Given the description of an element on the screen output the (x, y) to click on. 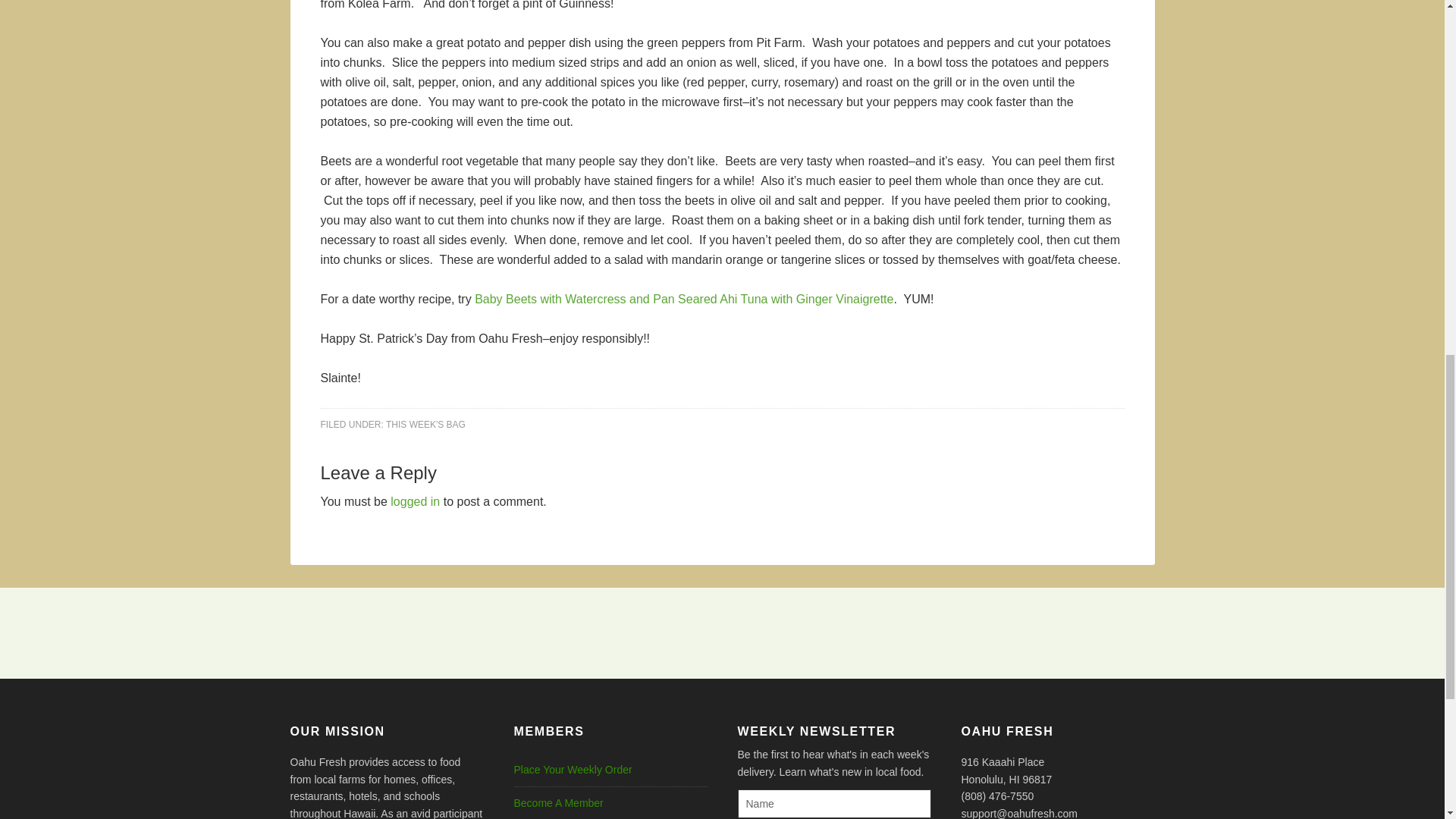
logged in (414, 501)
THIS WEEK'S BAG (425, 423)
Place Your Weekly Order (572, 769)
Become A Member (558, 802)
